Given the description of an element on the screen output the (x, y) to click on. 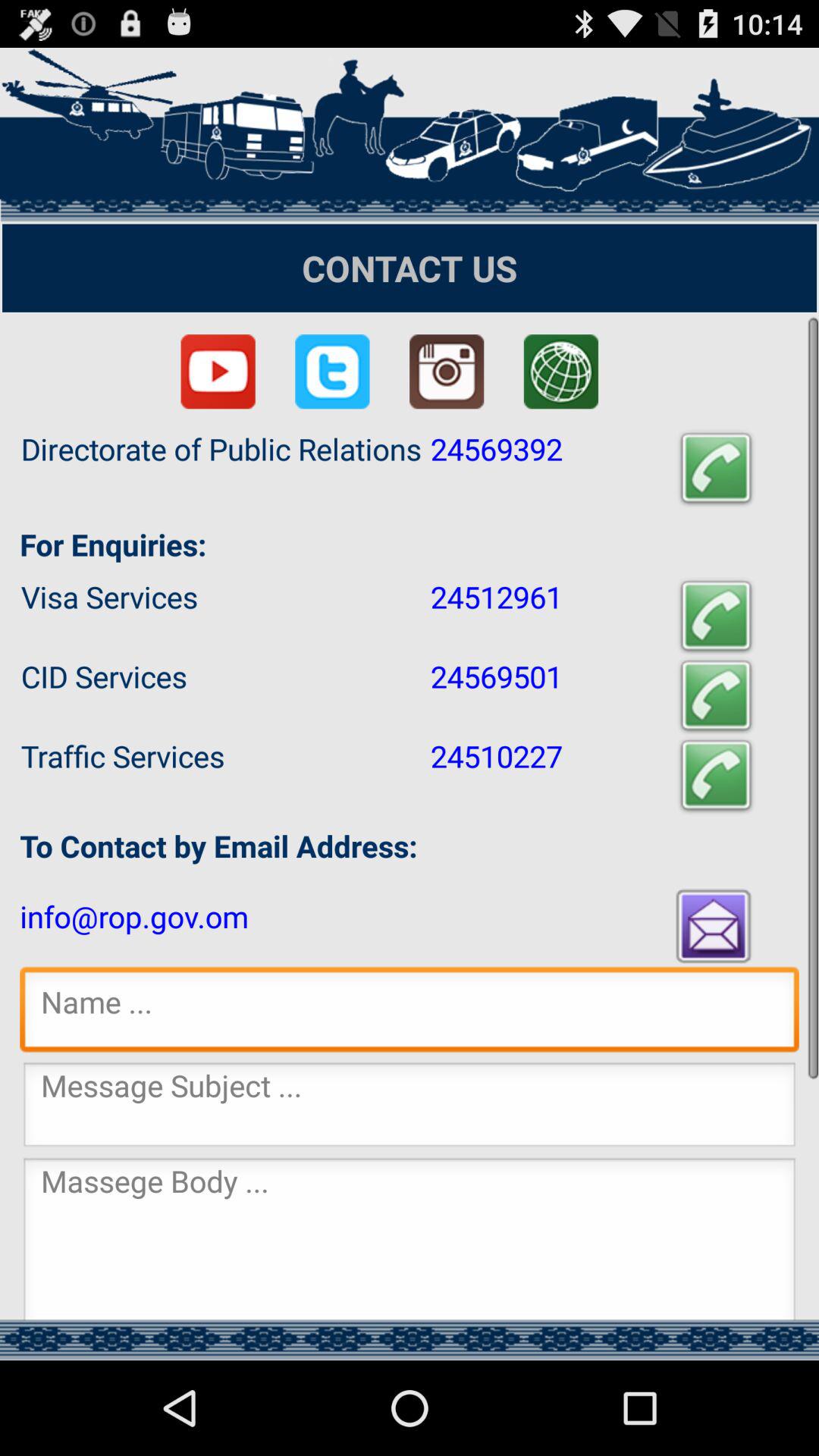
call visa service number (716, 616)
